Given the description of an element on the screen output the (x, y) to click on. 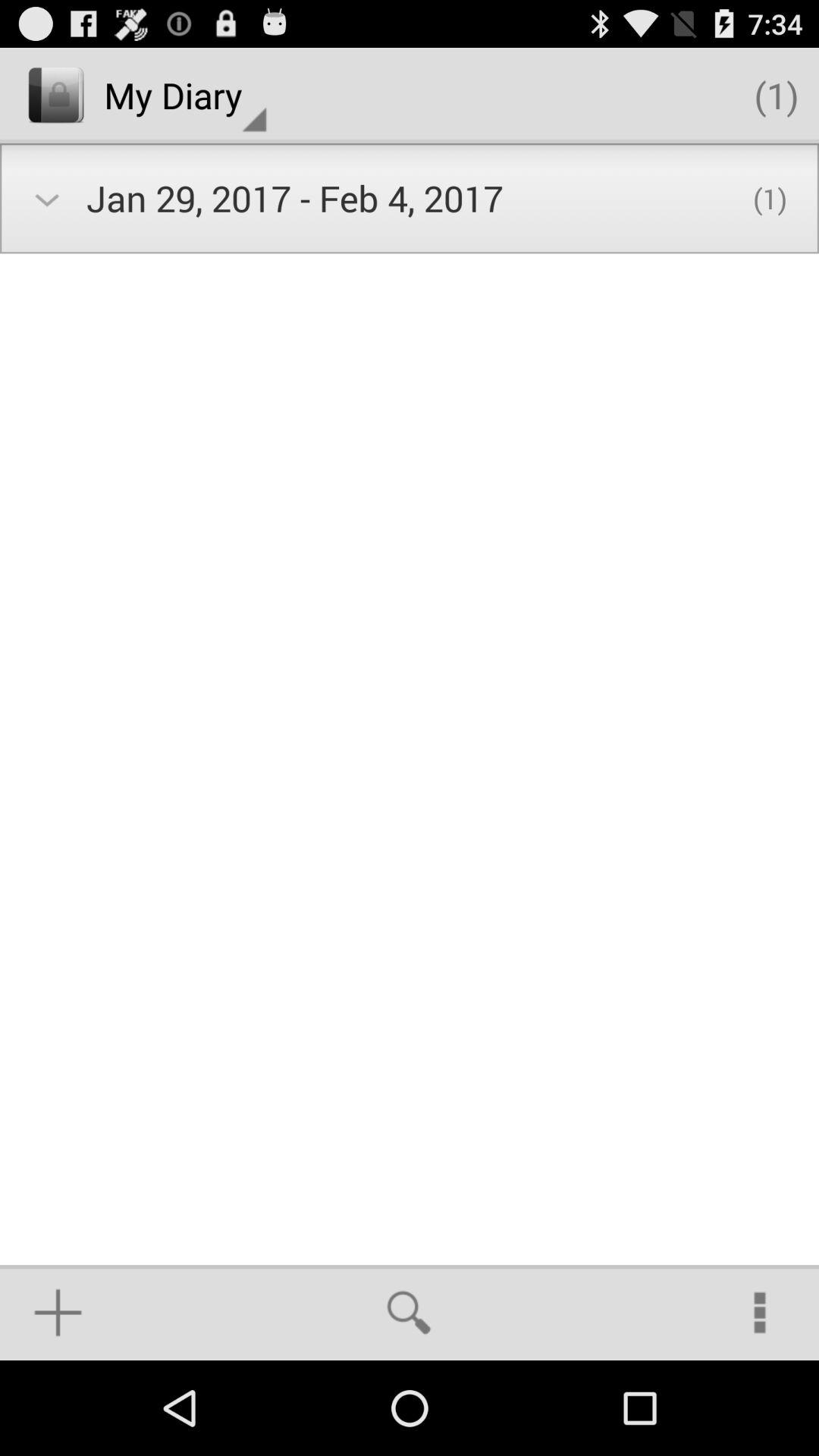
tap item to the left of (1) icon (185, 95)
